Given the description of an element on the screen output the (x, y) to click on. 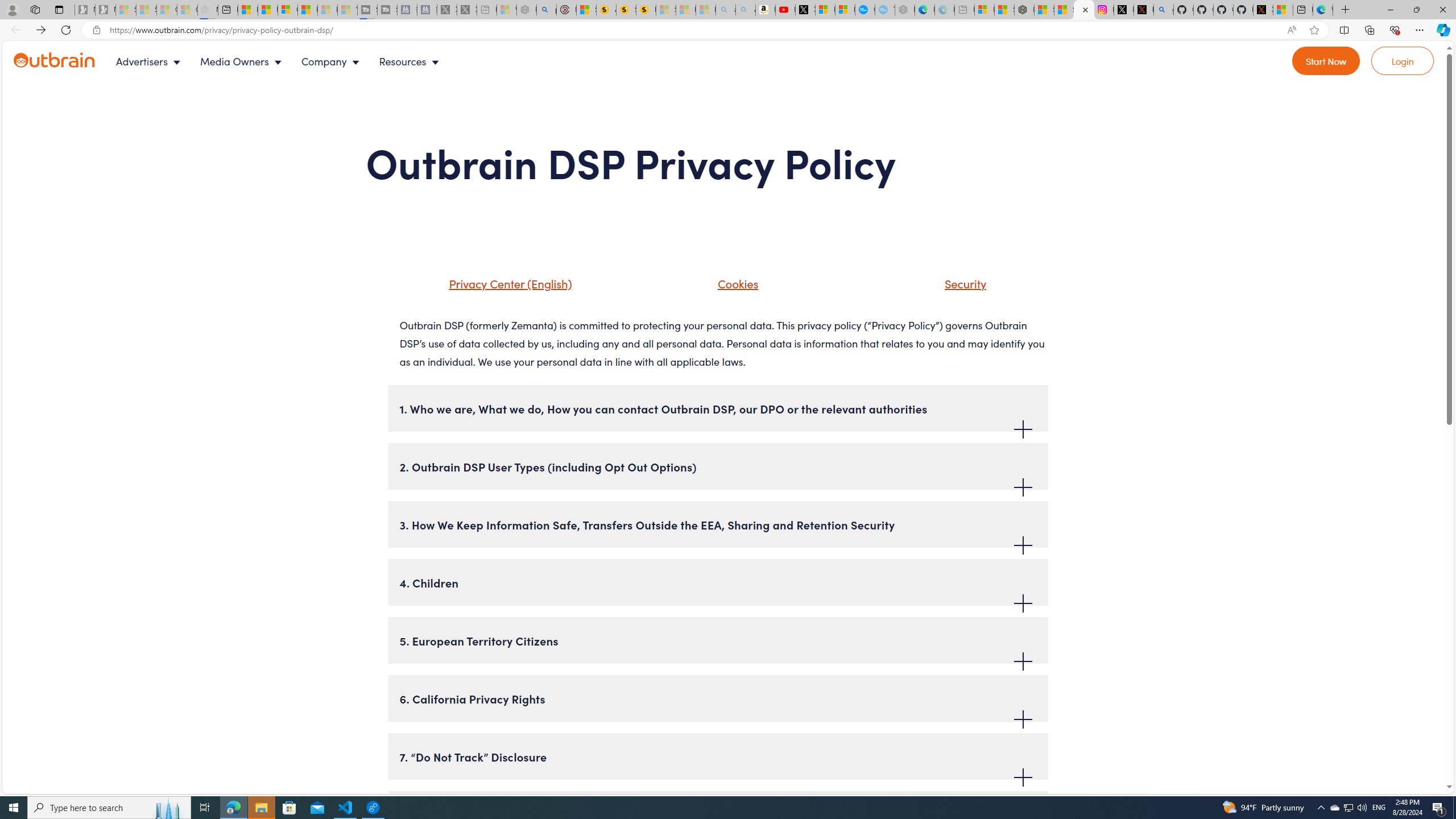
Nordace - Nordace has arrived Hong Kong - Sleeping (904, 9)
Overview (287, 9)
help.x.com | 524: A timeout occurred (1143, 9)
Main Navigation (287, 61)
Resources (411, 61)
Amazon Echo Dot PNG - Search Images - Sleeping (745, 9)
poe - Search (546, 9)
